Given the description of an element on the screen output the (x, y) to click on. 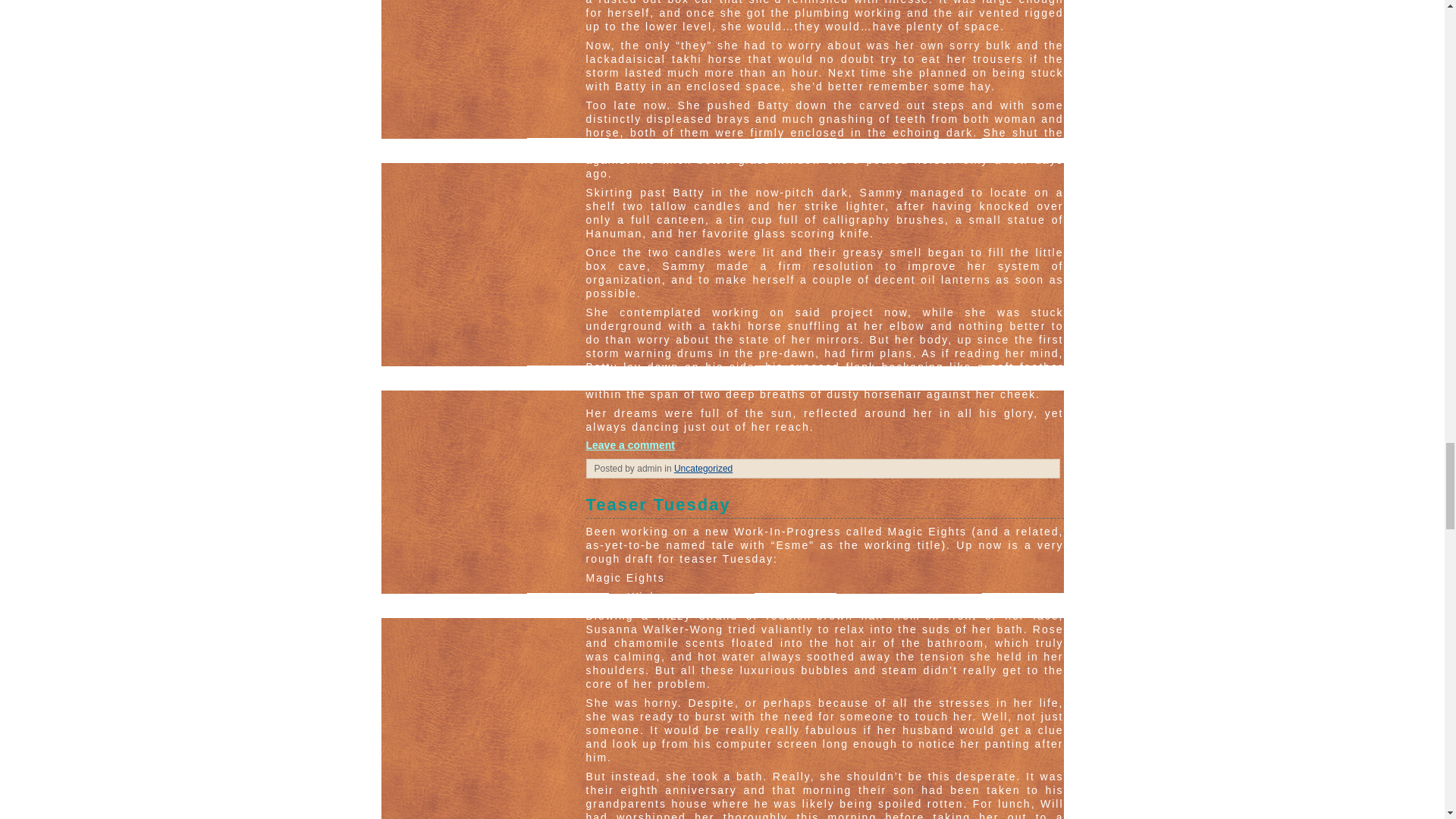
Uncategorized (703, 468)
Teaser Tuesday (823, 506)
Leave a comment (630, 444)
